Given the description of an element on the screen output the (x, y) to click on. 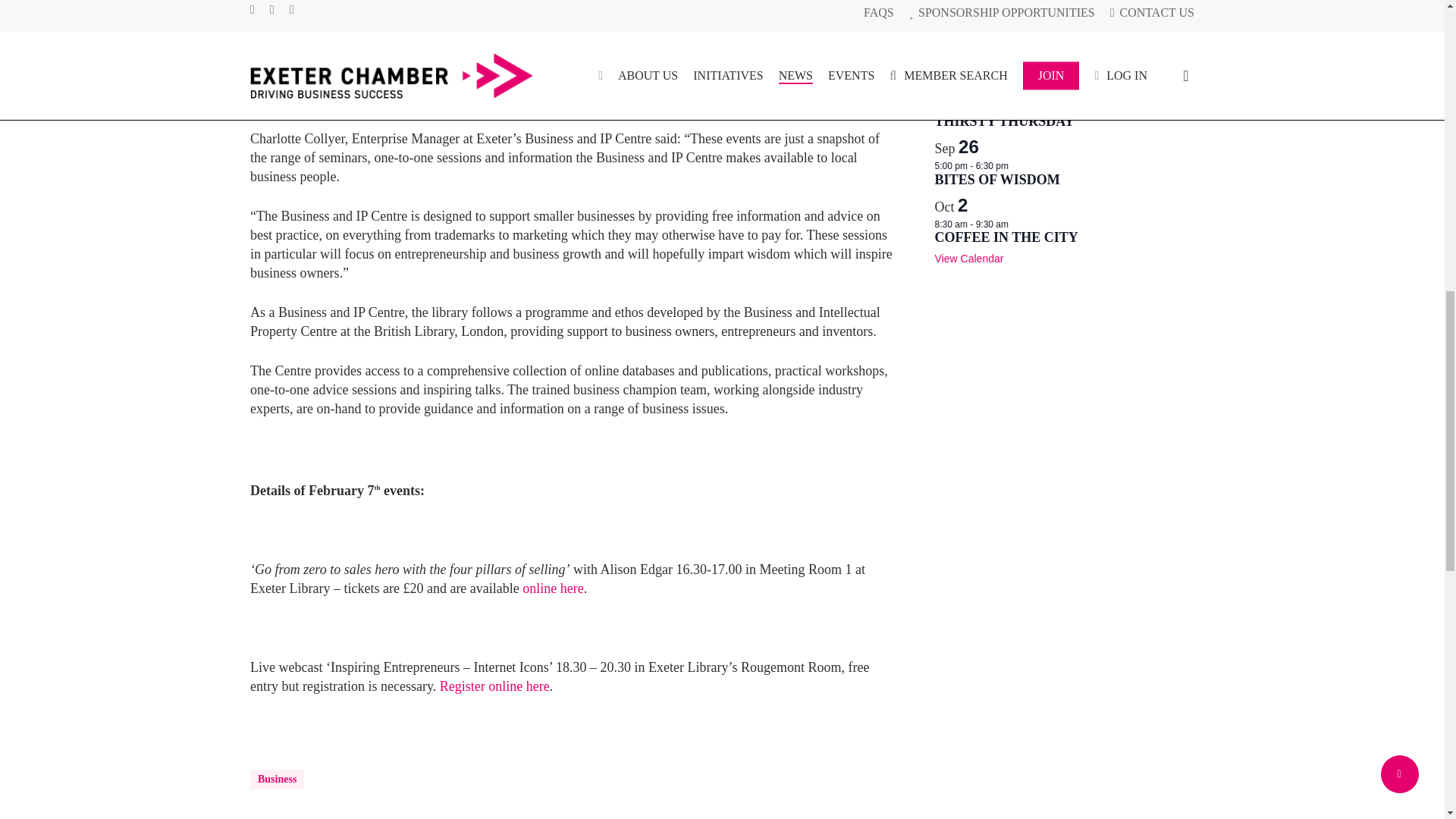
Business (277, 779)
View more events. (969, 258)
COFFEE IN THE CITY (1006, 6)
THIRSTY THURSDAY (1004, 121)
Event Series (1016, 107)
Event Series (1016, 105)
online here (552, 588)
BITES OF WISDOM (996, 179)
Event Series (1016, 222)
Event Series (1016, 224)
Event Series (1016, 48)
Register online here (494, 685)
Event Series (1016, 50)
COFFEE IN THE CITY (1006, 237)
COFFEE IN THE CITY (1006, 63)
